Given the description of an element on the screen output the (x, y) to click on. 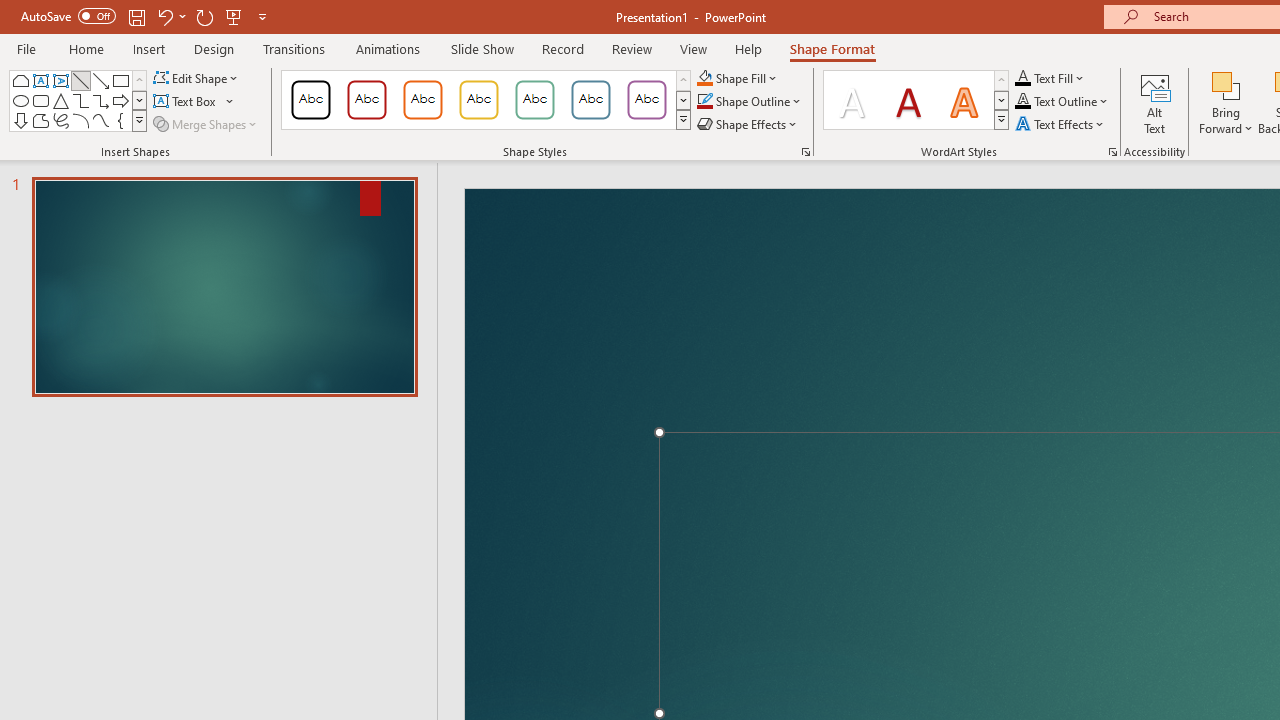
Arrow: Right (120, 100)
Text Outline (1062, 101)
Draw Horizontal Text Box (185, 101)
Isosceles Triangle (60, 100)
Colored Outline - Green, Accent 4 (534, 100)
Colored Outline - Gold, Accent 3 (478, 100)
Rectangle (120, 80)
